Given the description of an element on the screen output the (x, y) to click on. 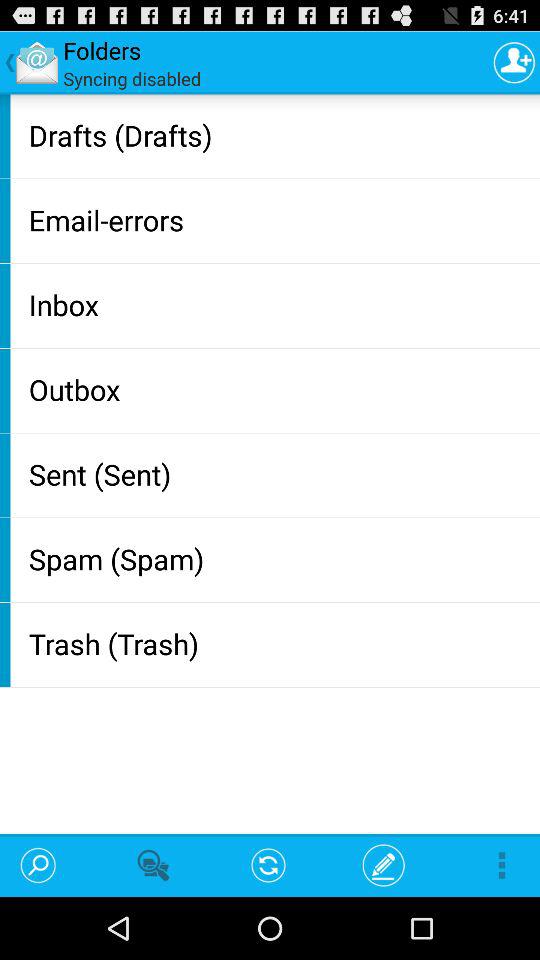
turn off the icon at the top right corner (514, 62)
